Given the description of an element on the screen output the (x, y) to click on. 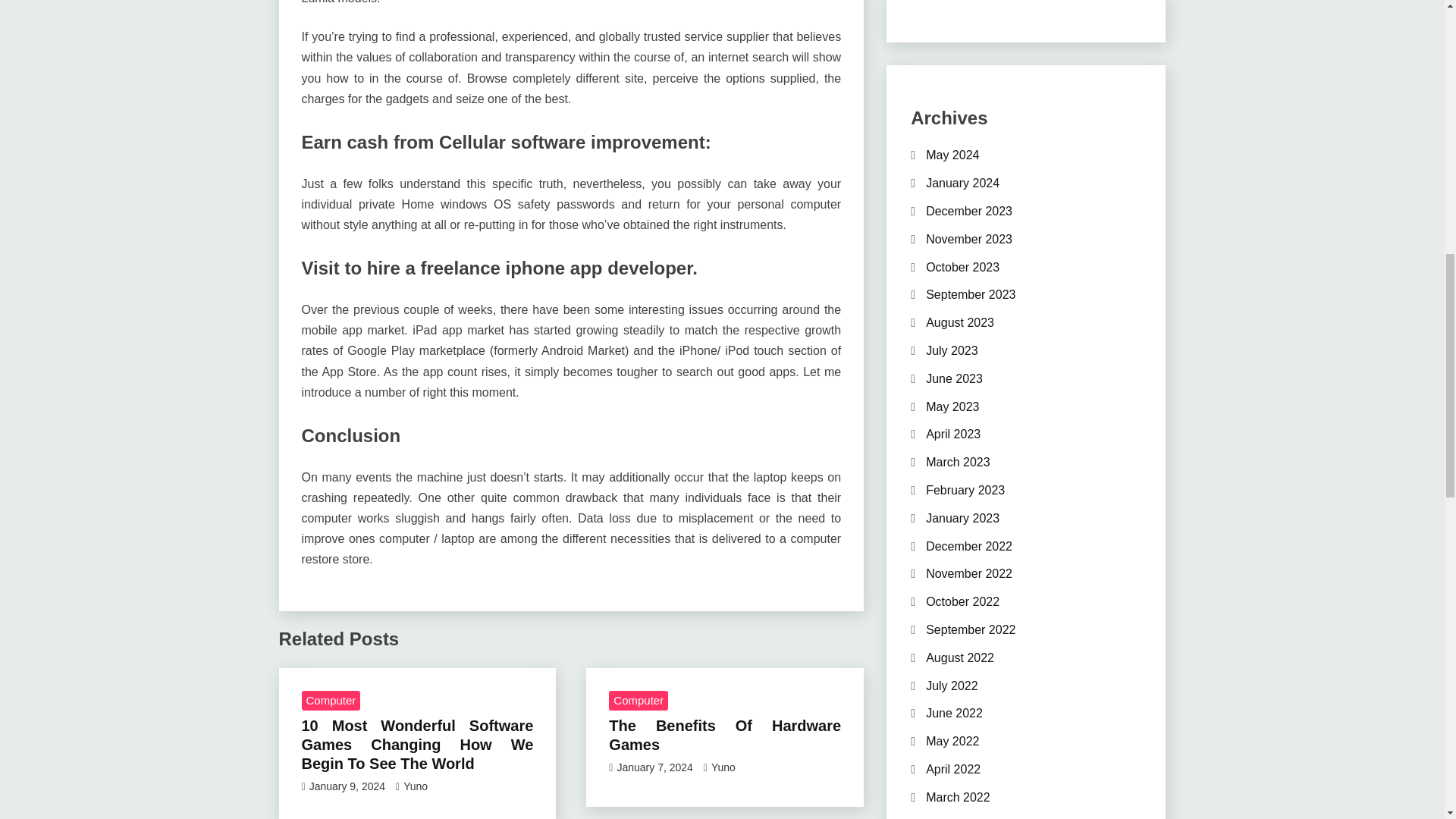
December 2023 (968, 210)
May 2024 (952, 154)
August 2023 (960, 322)
January 7, 2024 (654, 767)
Computer (331, 700)
July 2023 (952, 350)
January 2024 (962, 182)
June 2023 (954, 378)
The Benefits Of Hardware Games (724, 734)
Computer (638, 700)
Yuno (415, 786)
January 9, 2024 (346, 786)
September 2023 (970, 294)
November 2023 (968, 238)
